Given the description of an element on the screen output the (x, y) to click on. 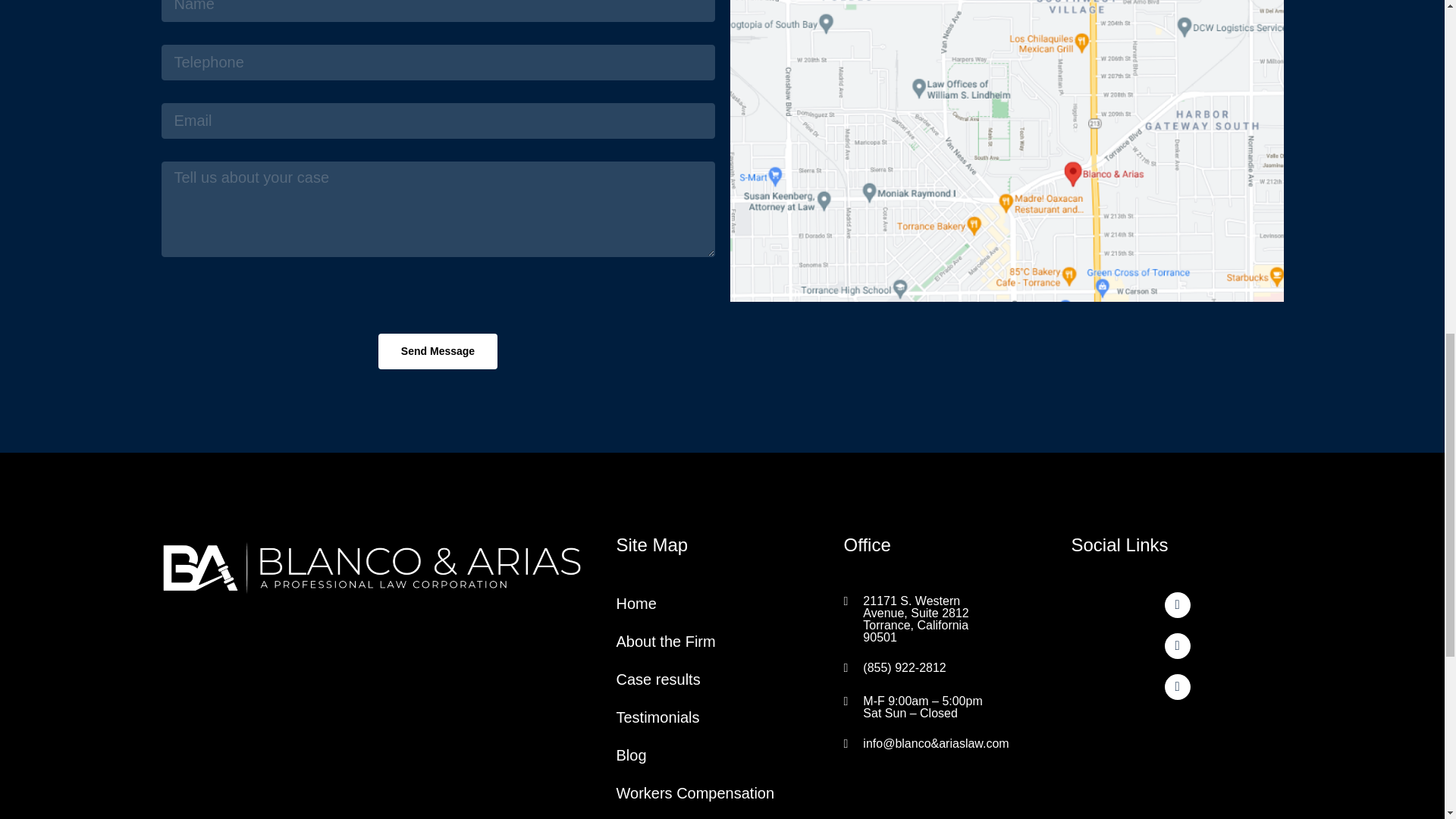
About the Firm (664, 641)
Home (635, 603)
Send Message (437, 351)
